Given the description of an element on the screen output the (x, y) to click on. 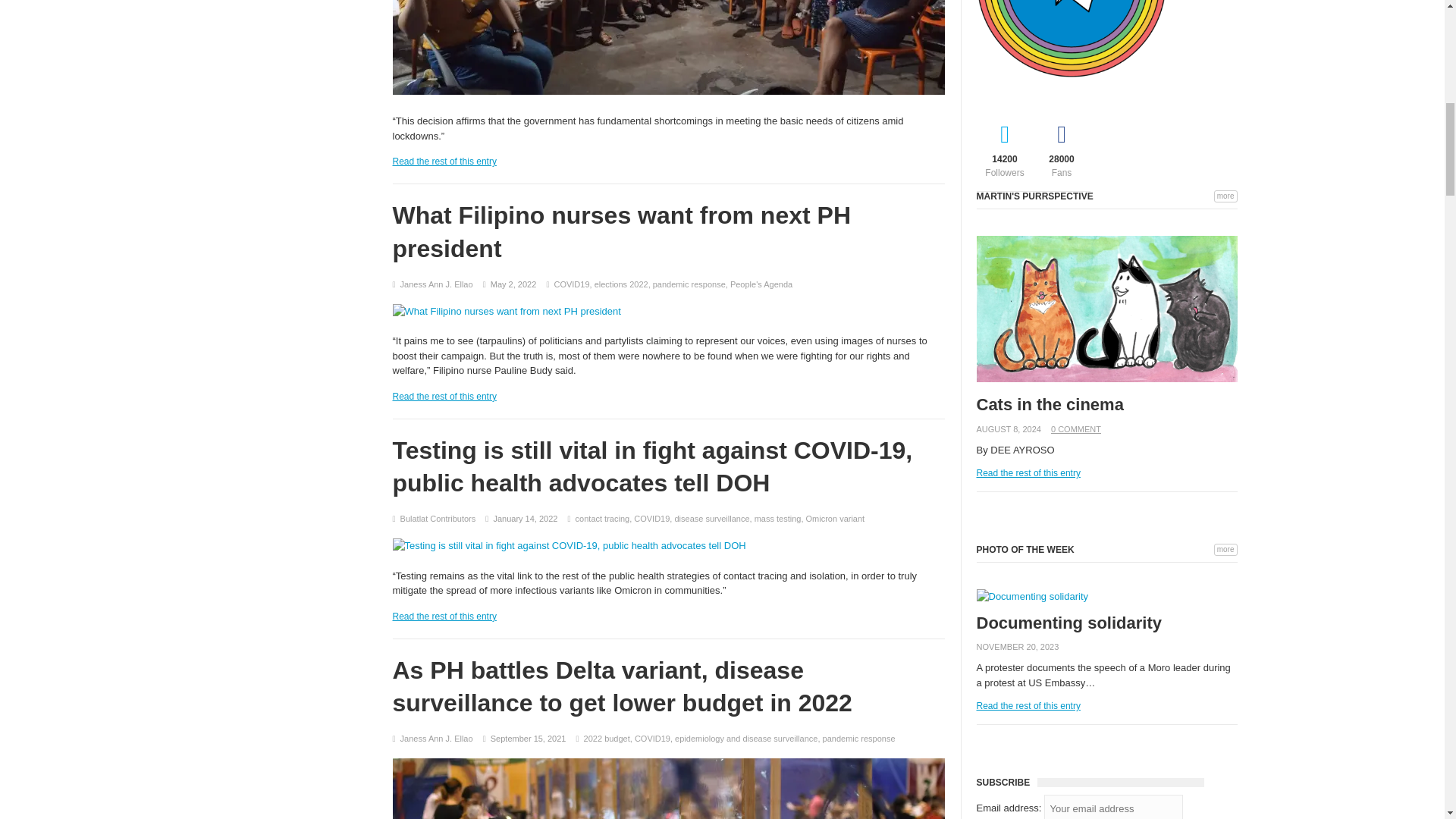
Wednesday, September 15, 2021, 3:04 pm (528, 737)
Monday, May 2, 2022, 4:51 pm (513, 284)
Friday, January 14, 2022, 11:42 am (525, 518)
